Given the description of an element on the screen output the (x, y) to click on. 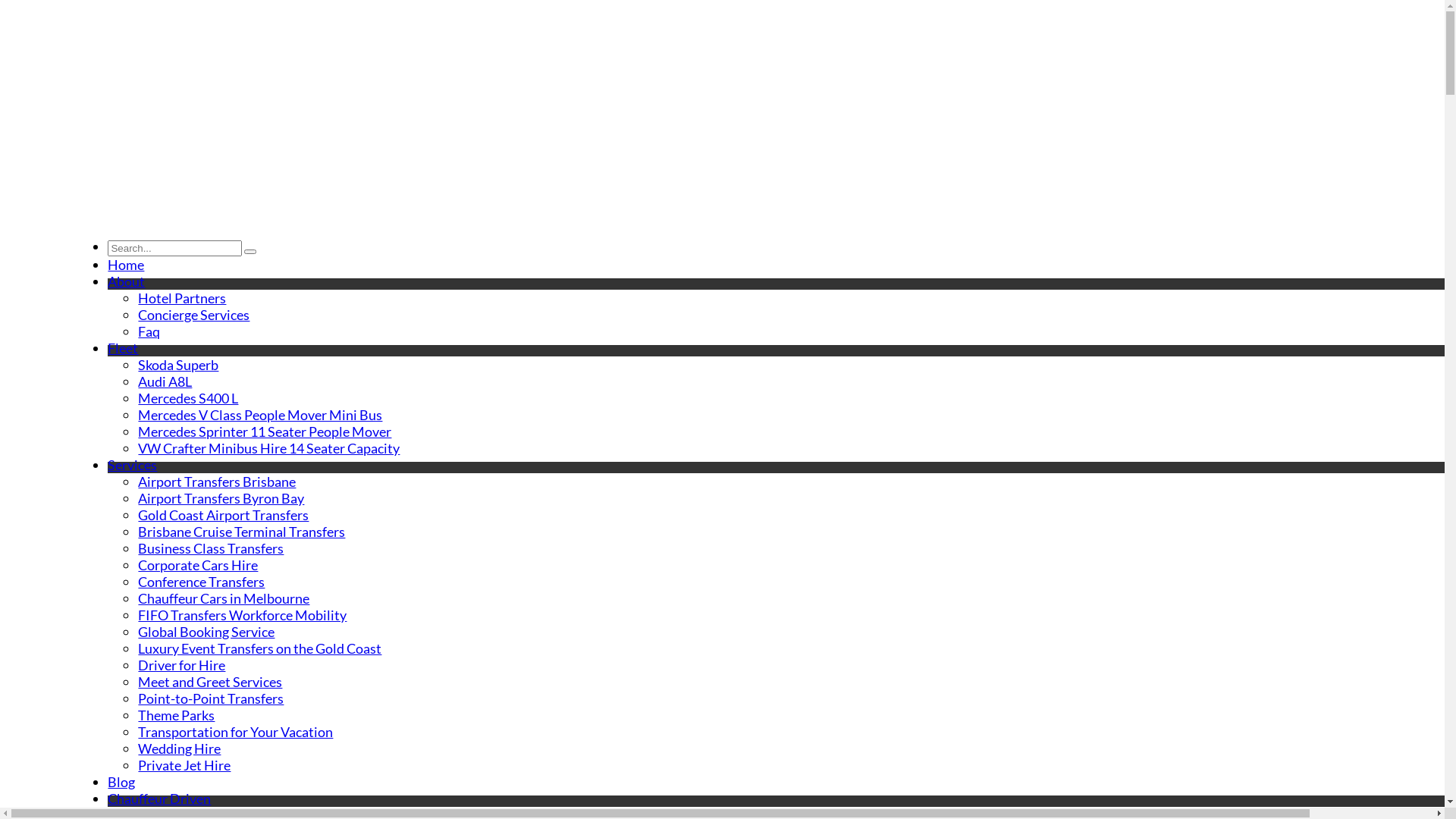
Skoda Superb Element type: text (178, 364)
Blog Element type: text (120, 781)
Private Jet Hire Element type: text (184, 764)
Fleet Element type: text (122, 347)
Corporate Cars Hire Element type: text (197, 564)
Mercedes Sprinter 11 Seater People Mover Element type: text (264, 431)
Transportation for Your Vacation Element type: text (235, 731)
Wedding Hire Element type: text (179, 748)
Audi A8L Element type: text (164, 381)
Business Class Transfers Element type: text (210, 547)
Home Element type: text (125, 264)
Conference Transfers Element type: text (201, 581)
Driver for Hire Element type: text (181, 664)
Theme Parks Element type: text (176, 714)
Global Booking Service Element type: text (206, 631)
Point-to-Point Transfers Element type: text (210, 698)
Brisbane Cruise Terminal Transfers Element type: text (241, 531)
Services Element type: text (131, 464)
Mercedes S400 L Element type: text (188, 397)
FIFO Transfers Workforce Mobility Element type: text (242, 614)
Gold Coast Airport Transfers Element type: text (223, 514)
About Element type: text (125, 281)
Mercedes V Class People Mover Mini Bus Element type: text (260, 414)
Airport Transfers Byron Bay Element type: text (221, 497)
Chauffeur Driven Element type: text (158, 798)
Faq Element type: text (149, 331)
Meet and Greet Services Element type: text (210, 681)
Hotel Partners Element type: text (181, 297)
Chauffeur Cars in Melbourne Element type: text (223, 597)
Airport Transfers Brisbane Element type: text (216, 481)
Concierge Services Element type: text (193, 314)
Luxury Event Transfers on the Gold Coast Element type: text (259, 648)
VW Crafter Minibus Hire 14 Seater Capacity Element type: text (268, 447)
